Given the description of an element on the screen output the (x, y) to click on. 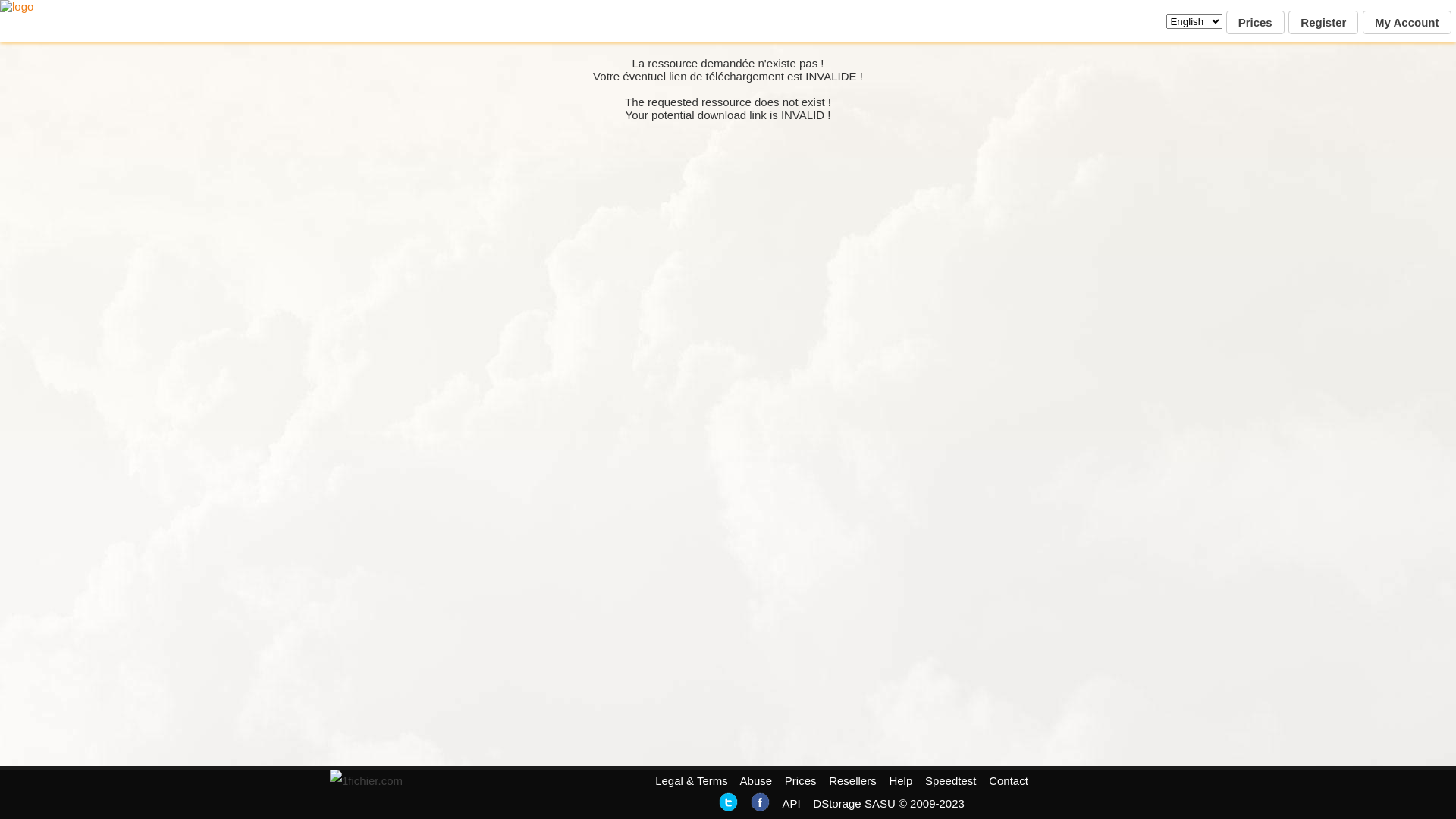
Contact Element type: text (1008, 780)
API Element type: text (790, 803)
My Account Element type: text (1406, 22)
Prices Element type: text (1255, 22)
Prices Element type: text (800, 780)
Resellers Element type: text (852, 780)
Help Element type: text (900, 780)
Legal & Terms Element type: text (691, 780)
Register Element type: text (1323, 22)
Abuse Element type: text (756, 780)
Speedtest Element type: text (950, 780)
